Given the description of an element on the screen output the (x, y) to click on. 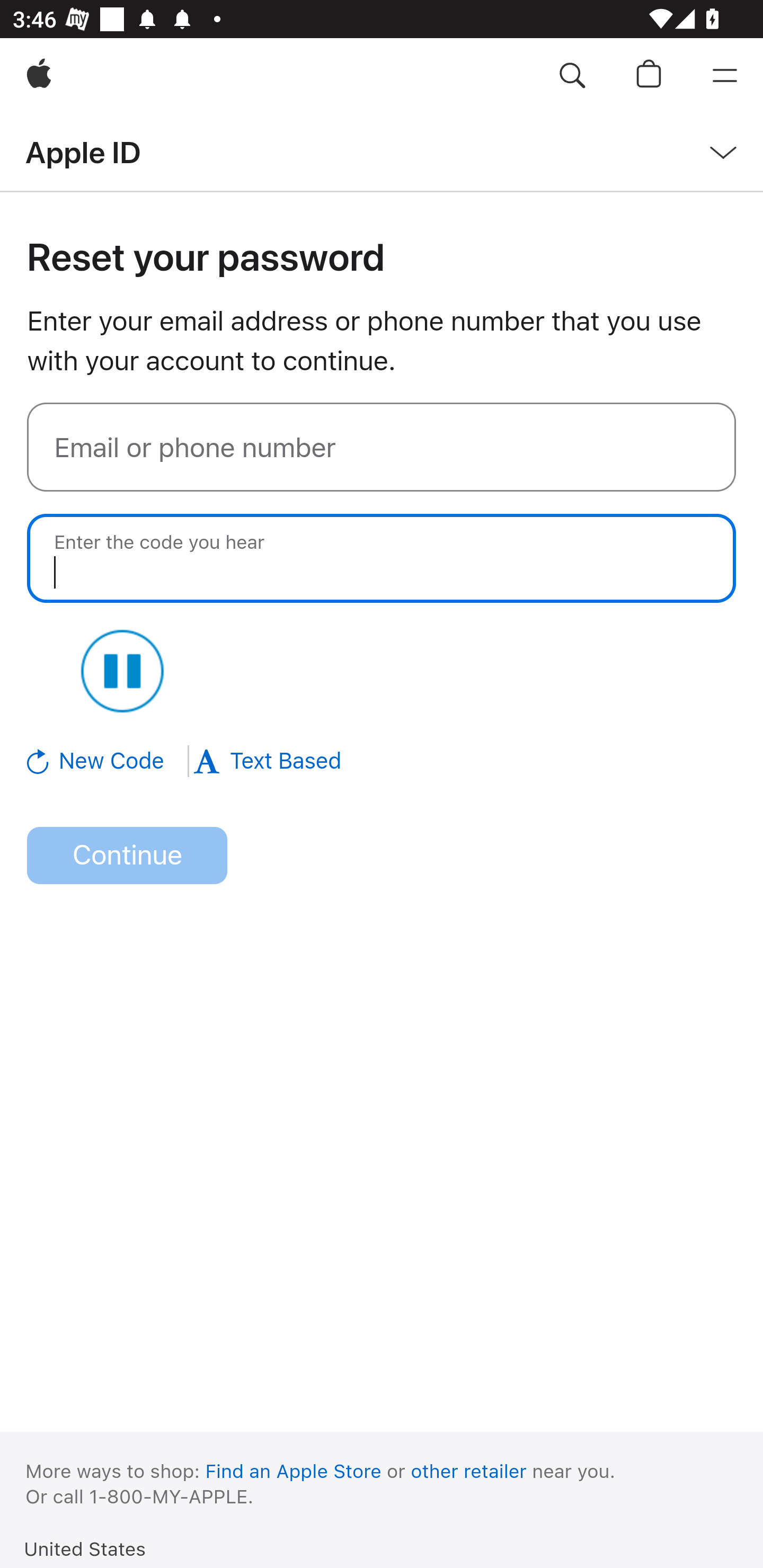
Apple (38, 75)
Search apple.com (572, 75)
Shopping Bag (648, 75)
Menu (724, 75)
Apple ID (83, 151)
Pause audio challenge (121, 671)
 New Code (108, 760)
 Text Based (266, 760)
Continue (126, 855)
Find an Apple Store (293, 1470)
other retailer (468, 1470)
United States (84, 1548)
